Given the description of an element on the screen output the (x, y) to click on. 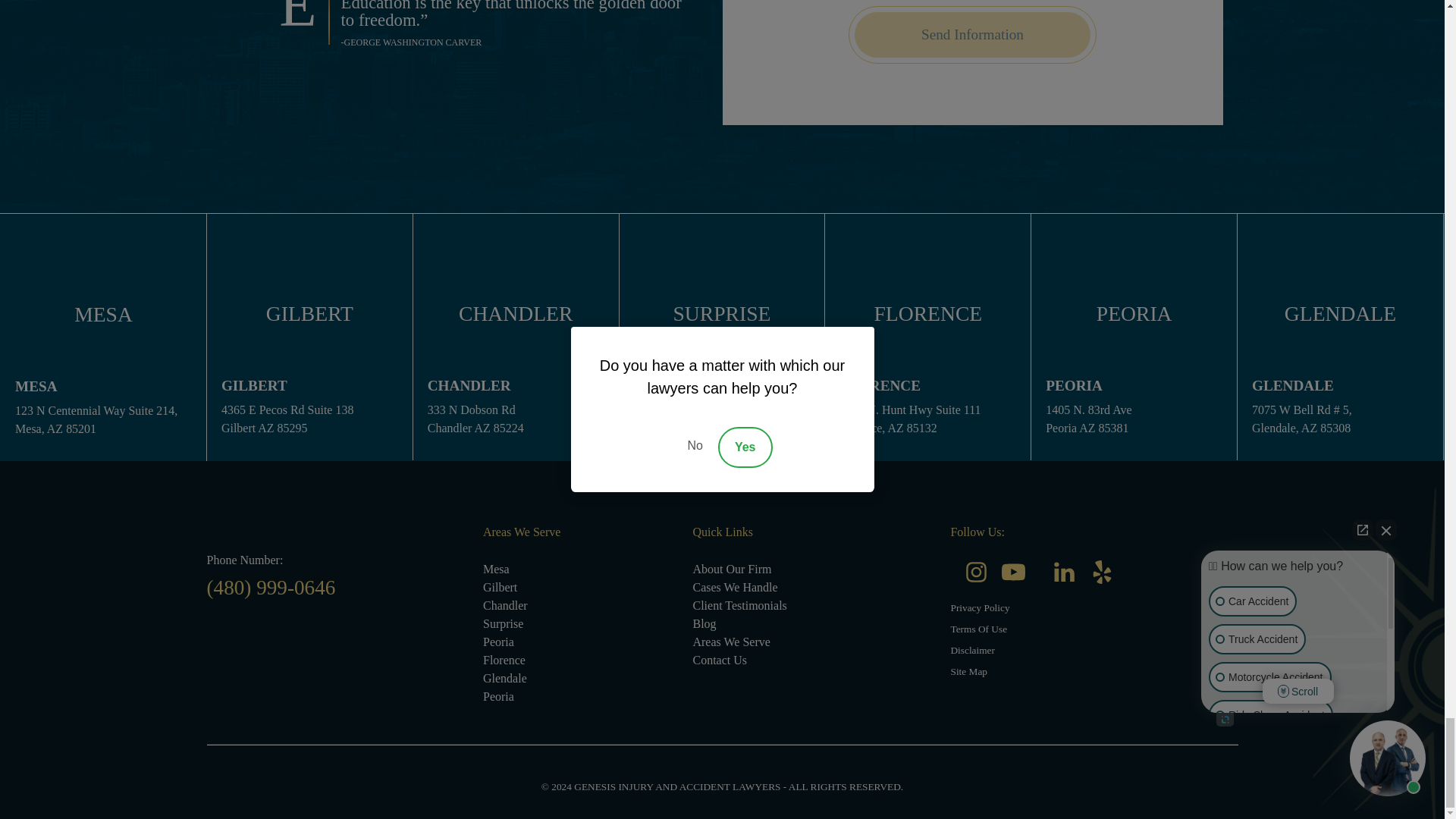
Send Information (972, 34)
